Given the description of an element on the screen output the (x, y) to click on. 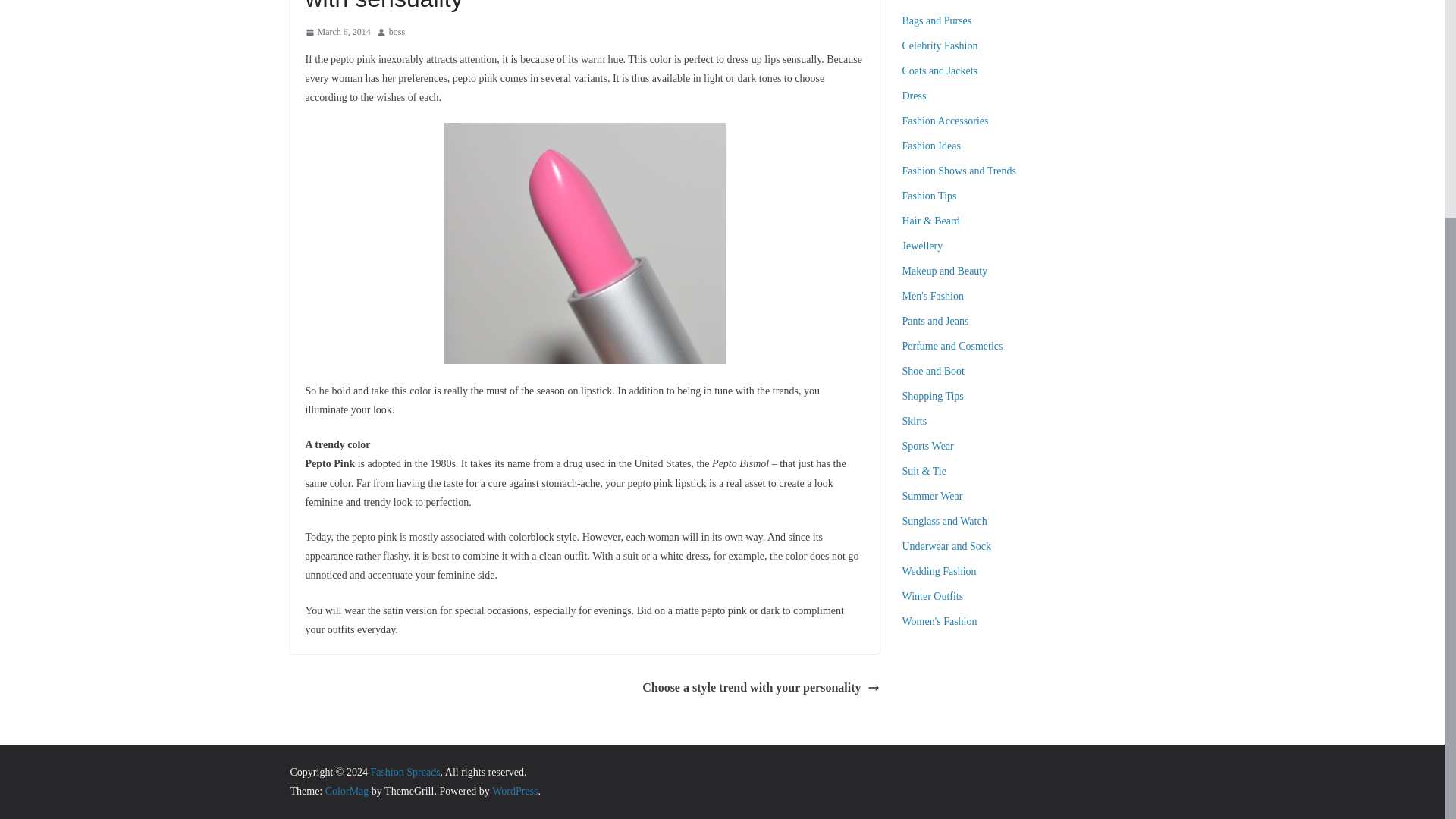
Celebrity Fashion (940, 45)
Skirts (914, 420)
Shopping Tips (932, 396)
Underwear and Sock (946, 546)
Perfume and Cosmetics (952, 346)
Men's Fashion (932, 296)
Fashion Spreads (404, 772)
March 6, 2014 (336, 32)
Fashion Tips (929, 195)
Fashion Accessories (945, 120)
